Given the description of an element on the screen output the (x, y) to click on. 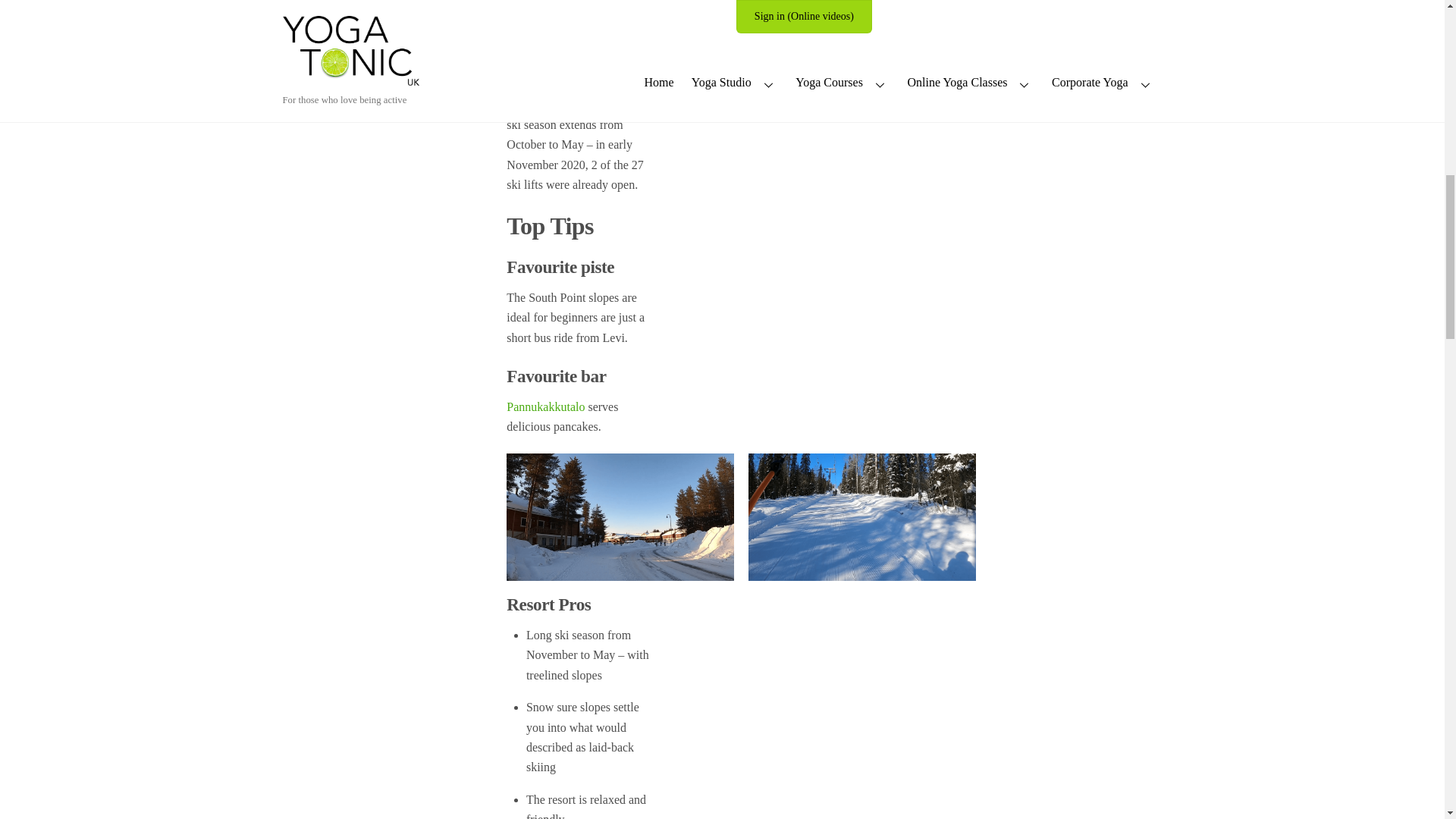
Pannukakkutalo (545, 406)
Levi 3 (861, 516)
Levi 2 (619, 516)
